Given the description of an element on the screen output the (x, y) to click on. 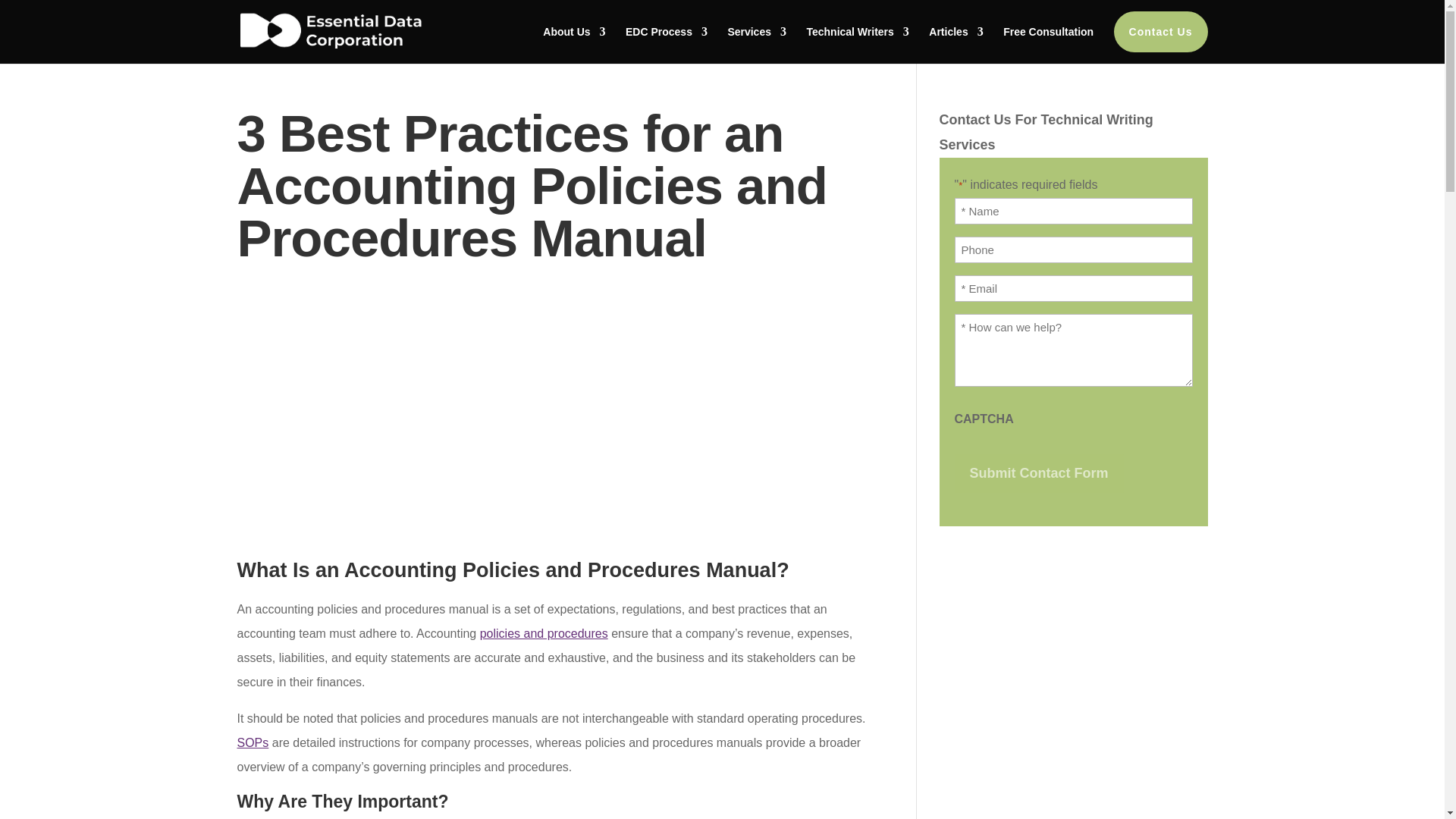
Technical Writing and Documentation Services (756, 31)
Technical Writing Company (574, 31)
Technical Writing Process (666, 31)
About Us (574, 31)
Services (756, 31)
EDC Process (666, 31)
Submit Contact Form (1037, 473)
